Given the description of an element on the screen output the (x, y) to click on. 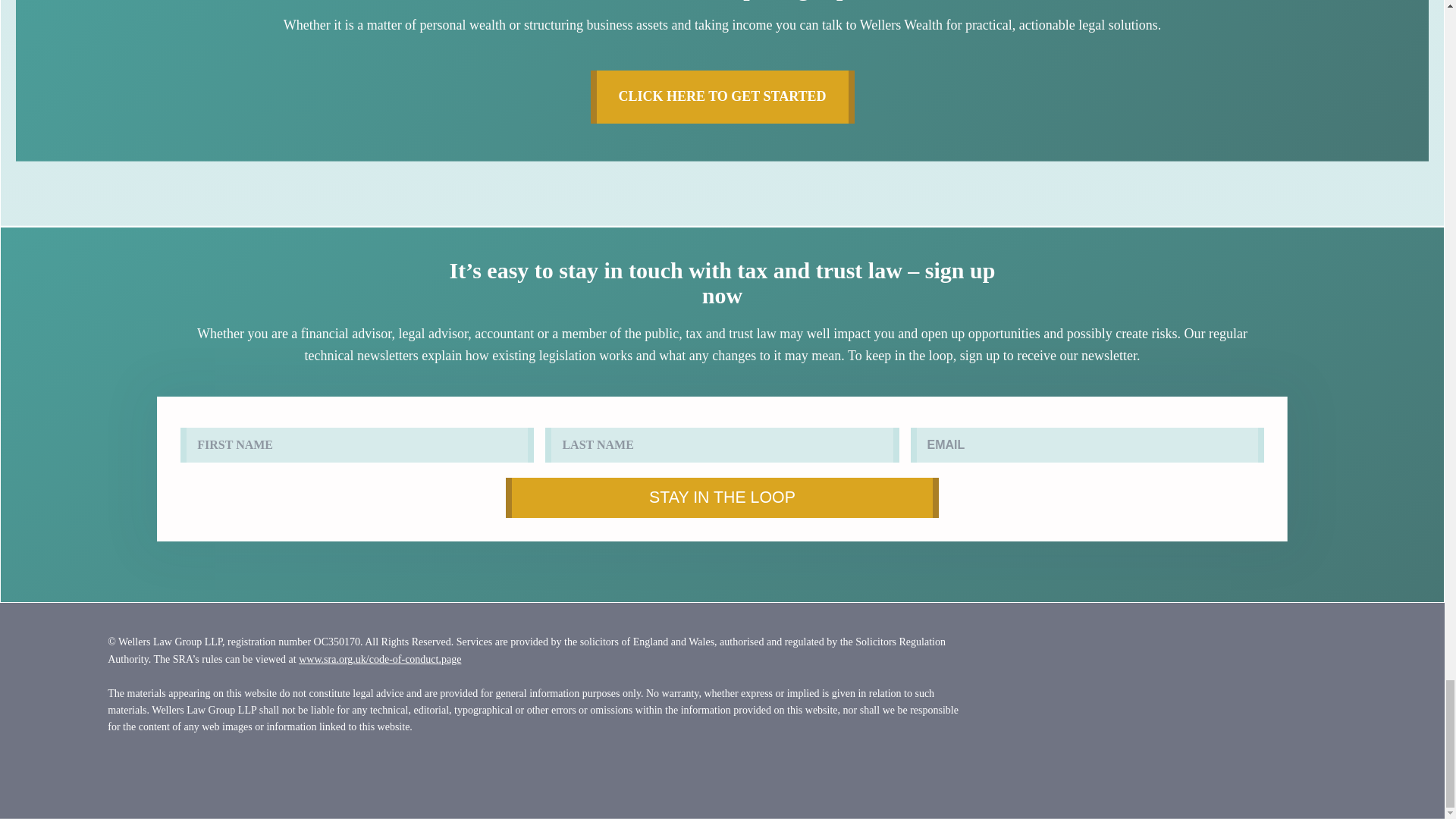
STAY IN THE LOOP (722, 497)
CLICK HERE TO GET STARTED (721, 96)
